Given the description of an element on the screen output the (x, y) to click on. 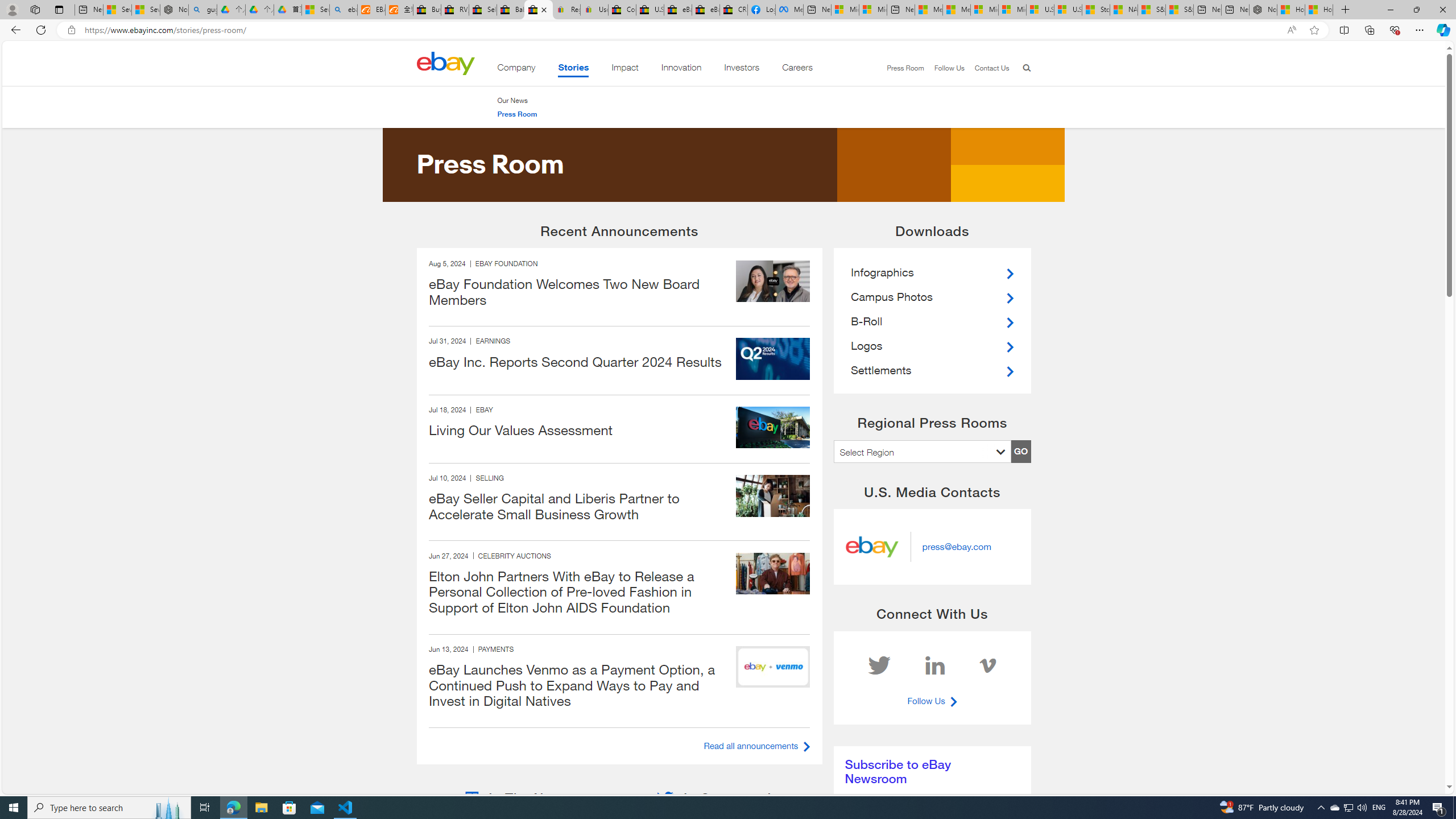
RV, Trailer & Camper Steps & Ladders for sale | eBay (454, 9)
Collections (1369, 29)
Back (13, 29)
Meta Store (789, 9)
Microsoft account | Privacy (872, 9)
New Tab (1346, 9)
Address and search bar (680, 29)
Refresh (40, 29)
